Given the description of an element on the screen output the (x, y) to click on. 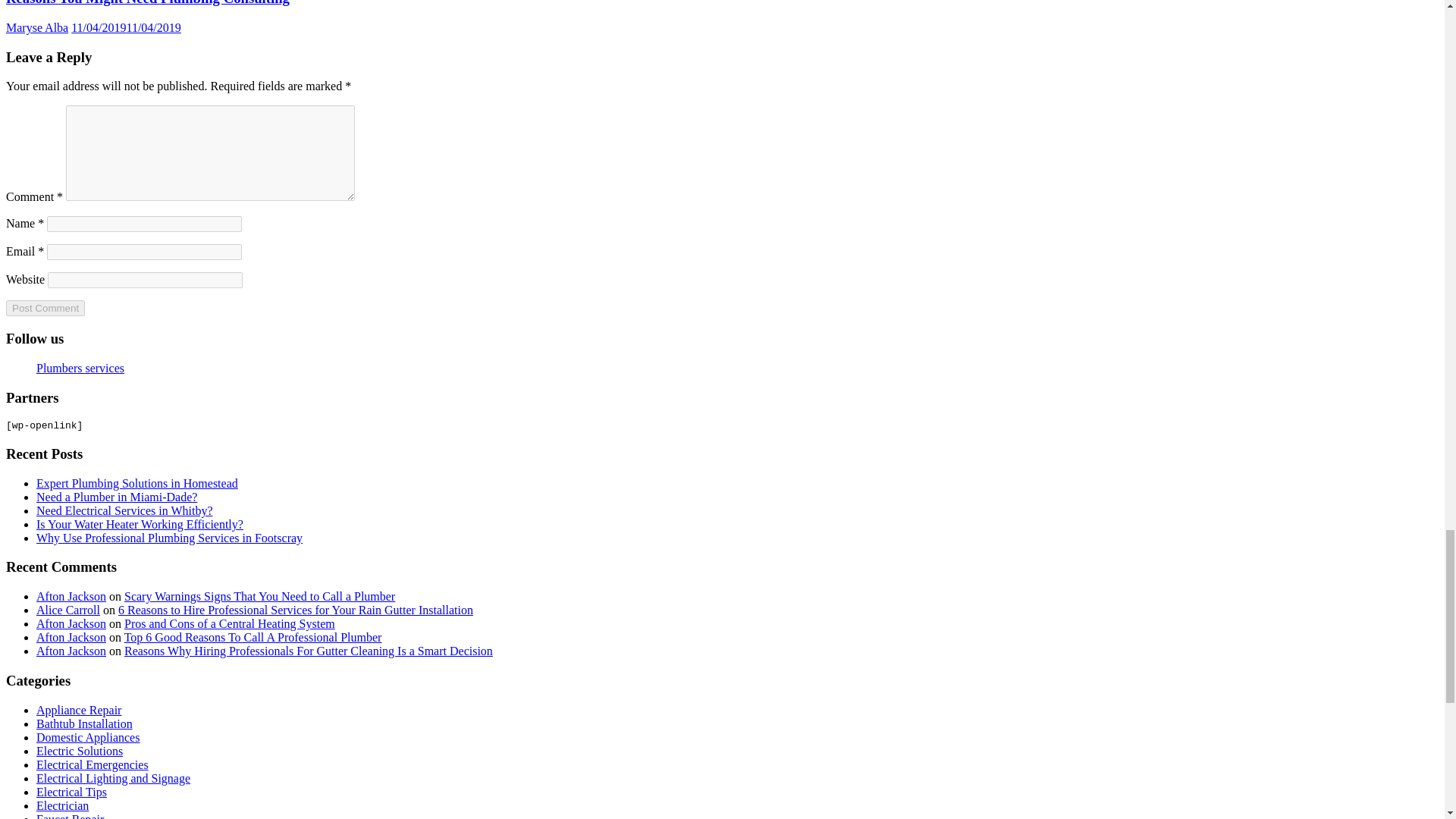
Reasons You Might Need Plumbing Consulting (147, 2)
11:31 (125, 27)
Post Comment (44, 308)
